Given the description of an element on the screen output the (x, y) to click on. 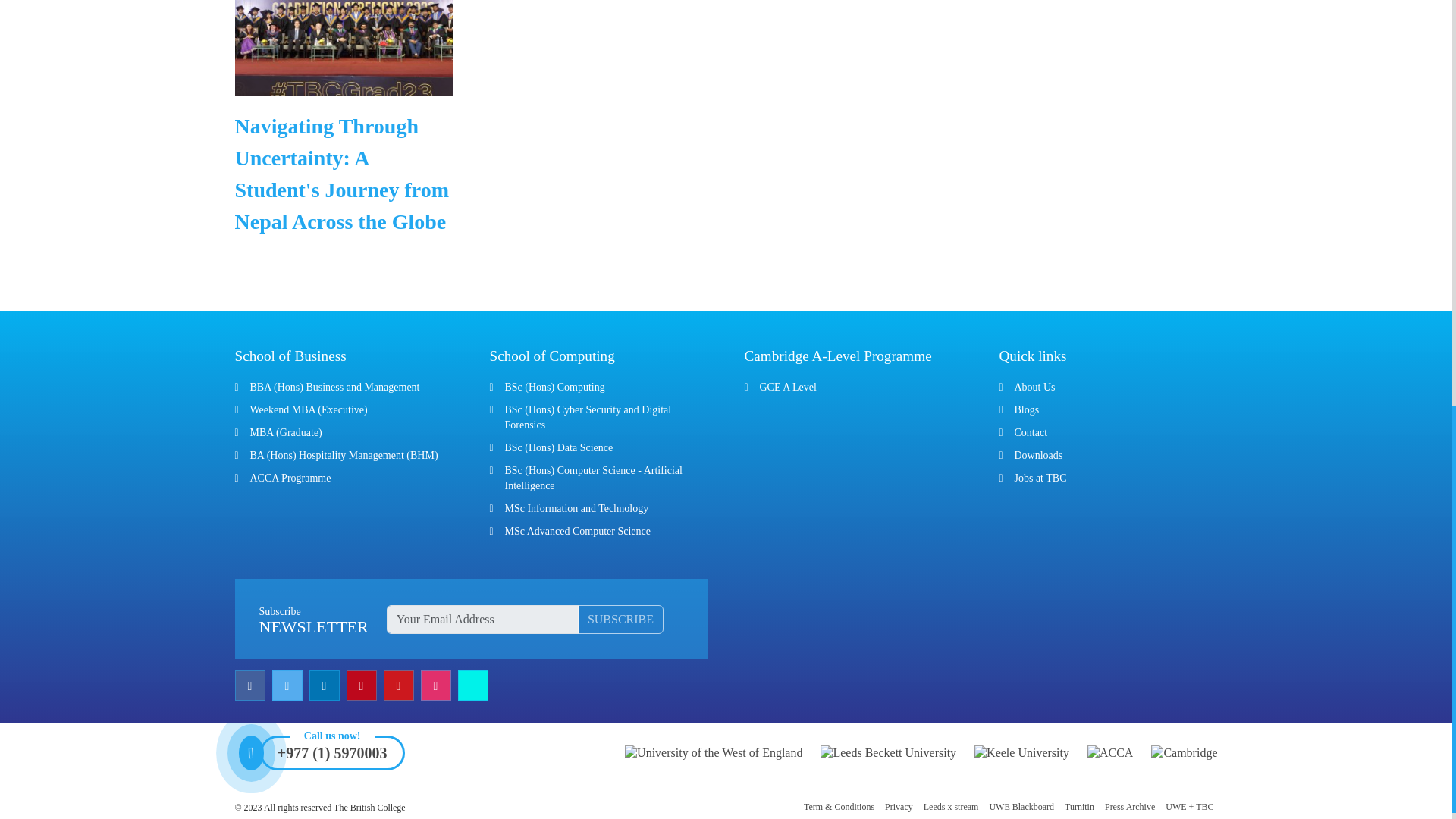
SUBSCRIBE (620, 619)
Instagram (437, 685)
GCE A Level (788, 387)
MSc Advanced Computer Science (577, 531)
Pinterest (363, 685)
MSc Information and Technology (577, 508)
Facebook (251, 685)
ACCA Programme (290, 478)
Blogs (1026, 409)
Youtube (400, 685)
